Given the description of an element on the screen output the (x, y) to click on. 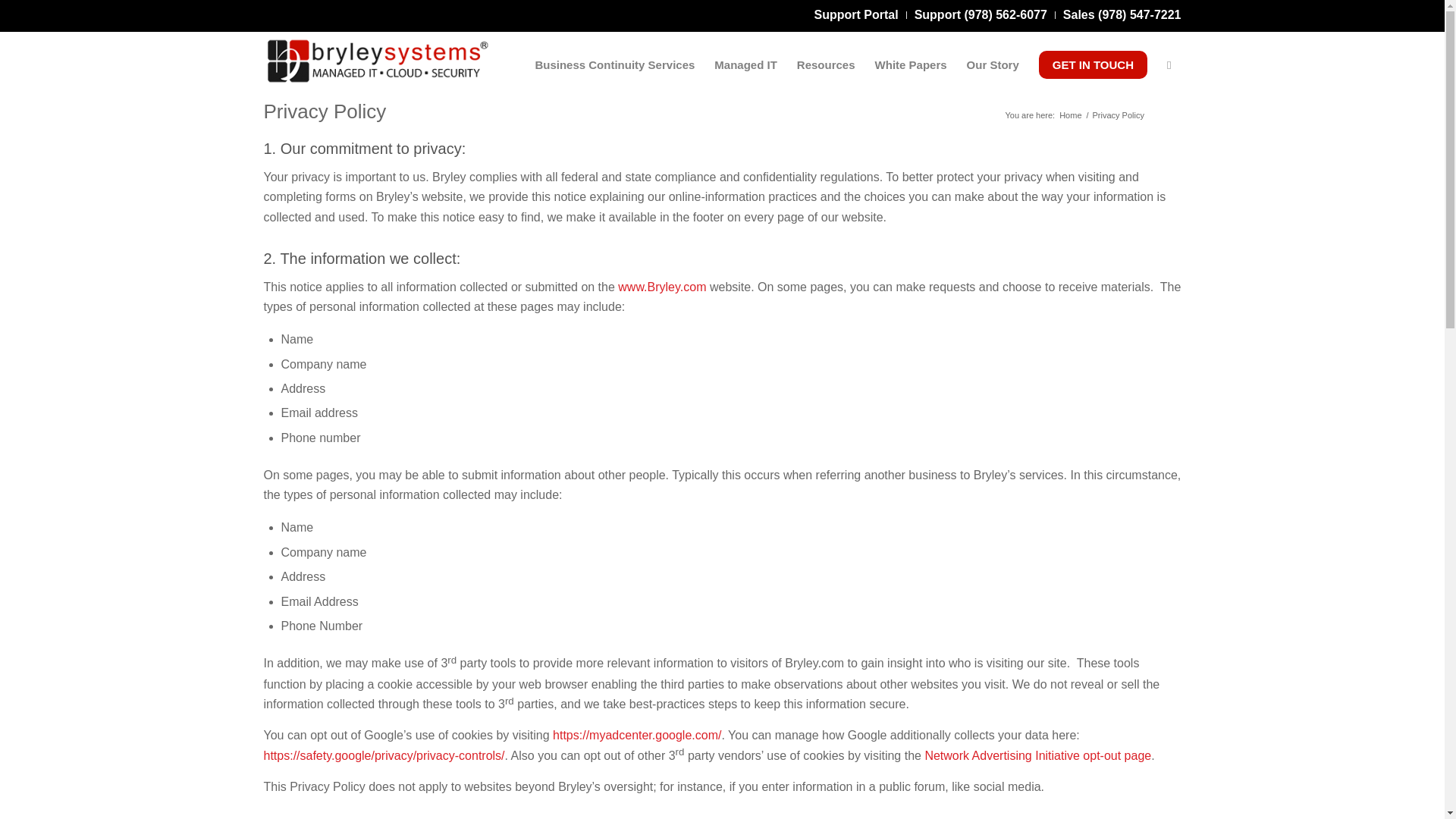
GET IN TOUCH (1093, 65)
Managed IT (745, 65)
Support Portal (855, 14)
Our Story (992, 65)
Permanent Link: Privacy Policy (325, 110)
White Papers (910, 65)
Bryley Systems Inc. (1070, 115)
Resources (825, 65)
Business Continuity Services (614, 65)
